Given the description of an element on the screen output the (x, y) to click on. 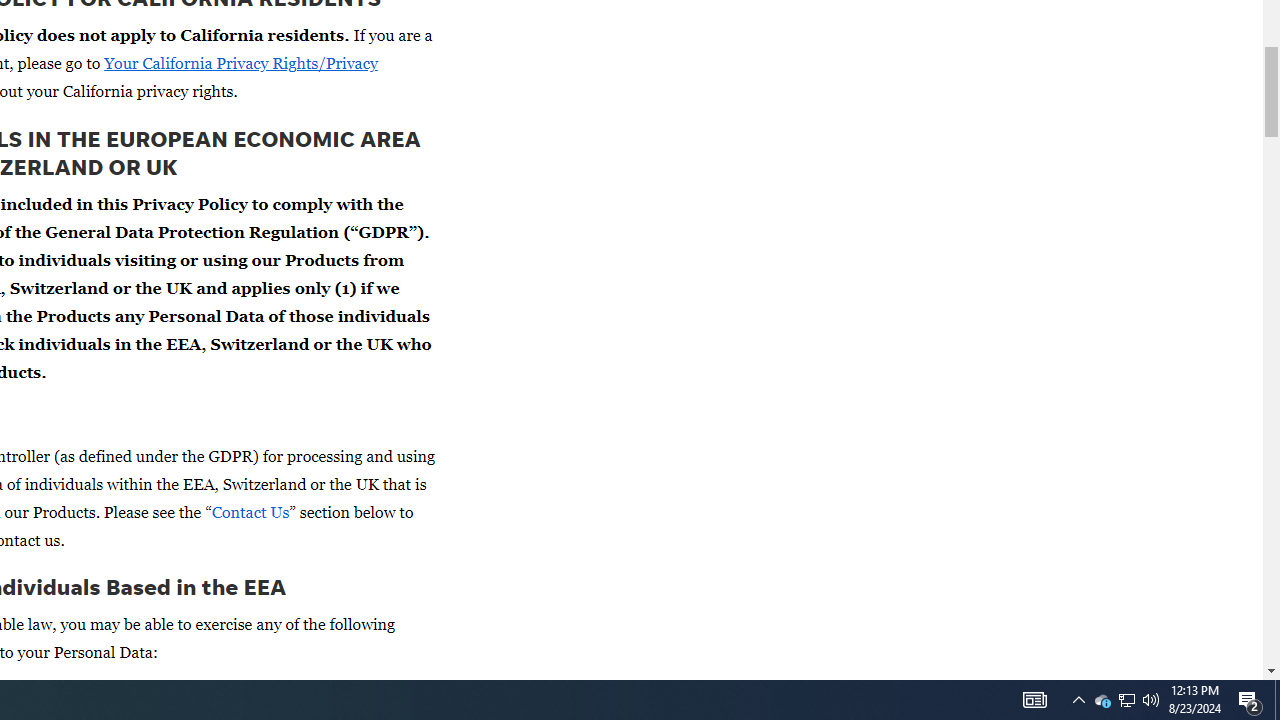
Contact Us (250, 511)
